Given the description of an element on the screen output the (x, y) to click on. 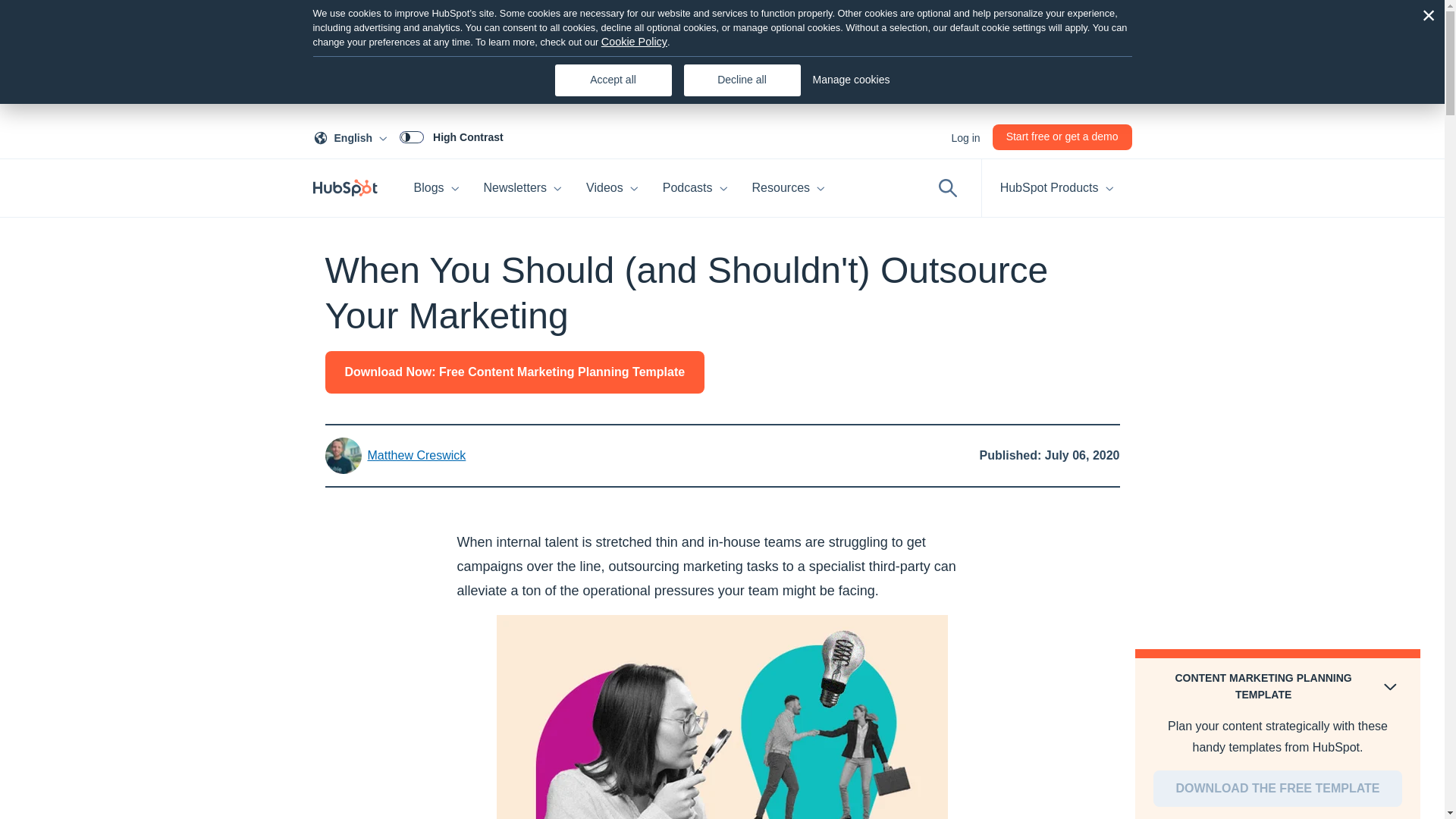
Newsletters (523, 187)
Blogs (436, 187)
Start free or get a demo (353, 136)
Log in (1062, 136)
High Contrast (964, 137)
